Given the description of an element on the screen output the (x, y) to click on. 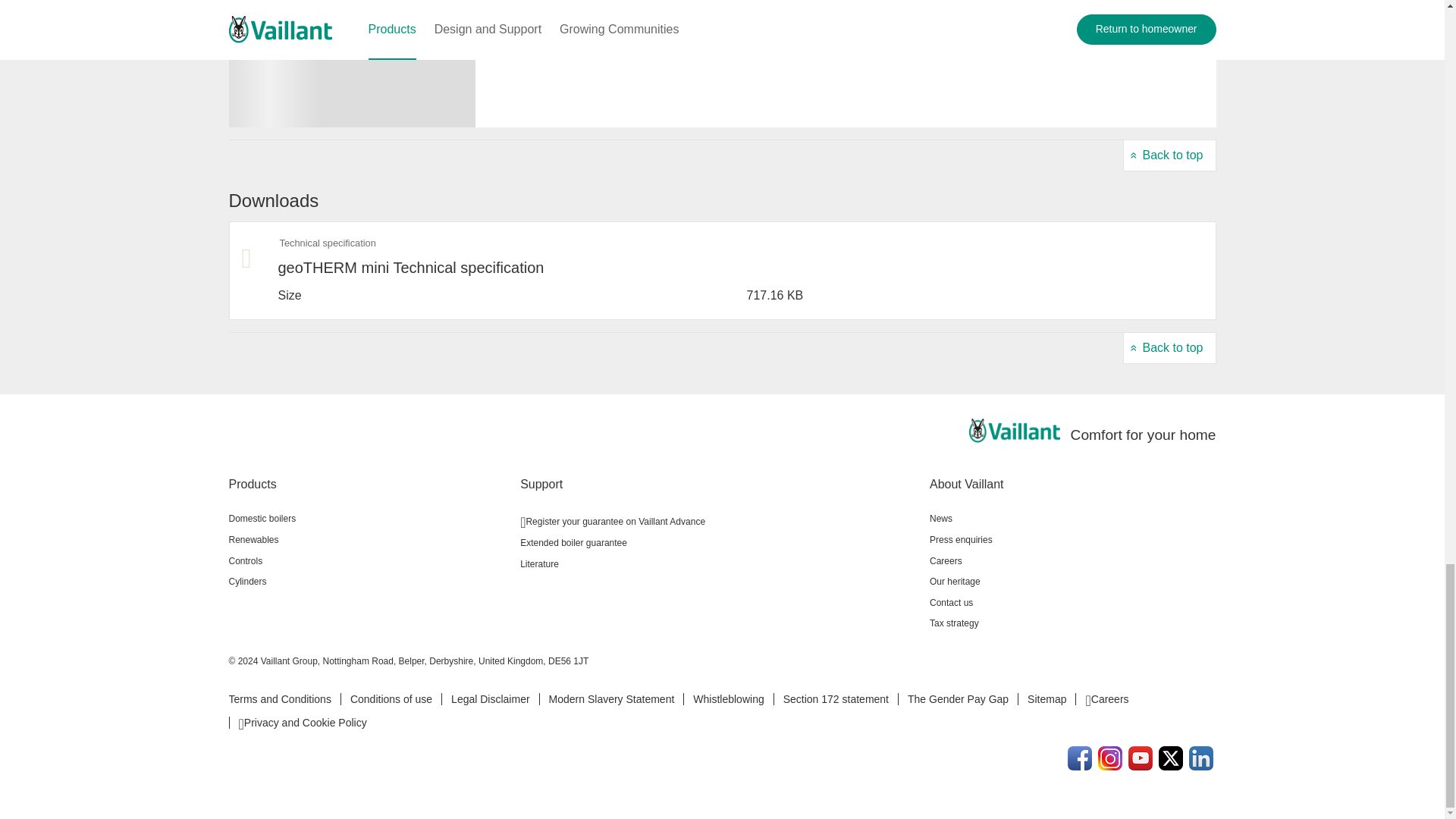
Youtube (1140, 758)
Instagram (1109, 758)
Twitter (1170, 758)
Facebook (1079, 758)
Linkedin (1200, 758)
Vaillant (1015, 430)
